Given the description of an element on the screen output the (x, y) to click on. 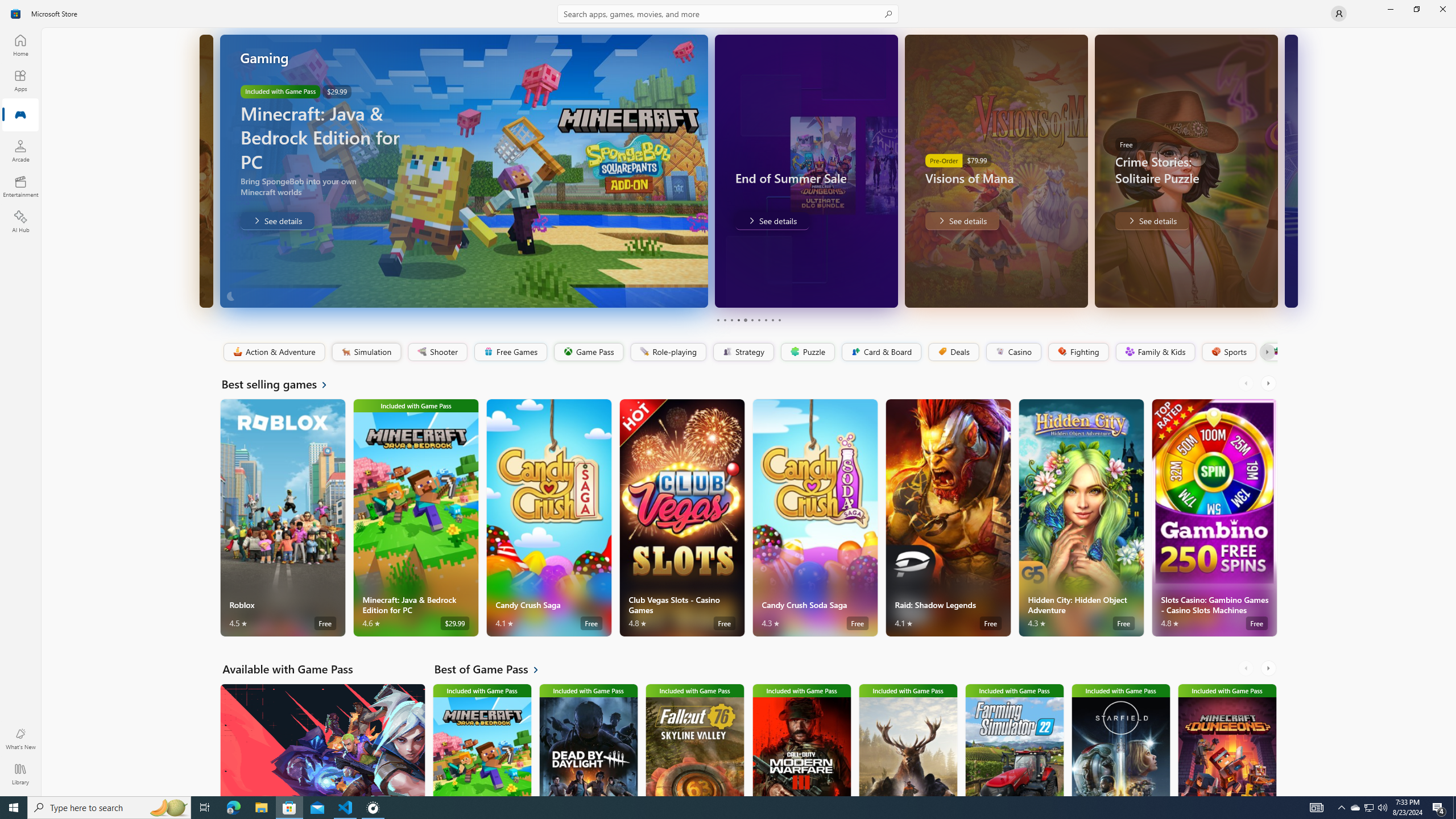
See all  Best of Game Pass (493, 668)
Game Pass (588, 352)
Page 2 (724, 319)
Sports (1228, 352)
Page 1 (717, 319)
What's New (20, 738)
Gaming (20, 115)
Home (20, 45)
Shooter (436, 352)
Apps (20, 80)
Pager (748, 319)
Role-playing (668, 352)
